Given the description of an element on the screen output the (x, y) to click on. 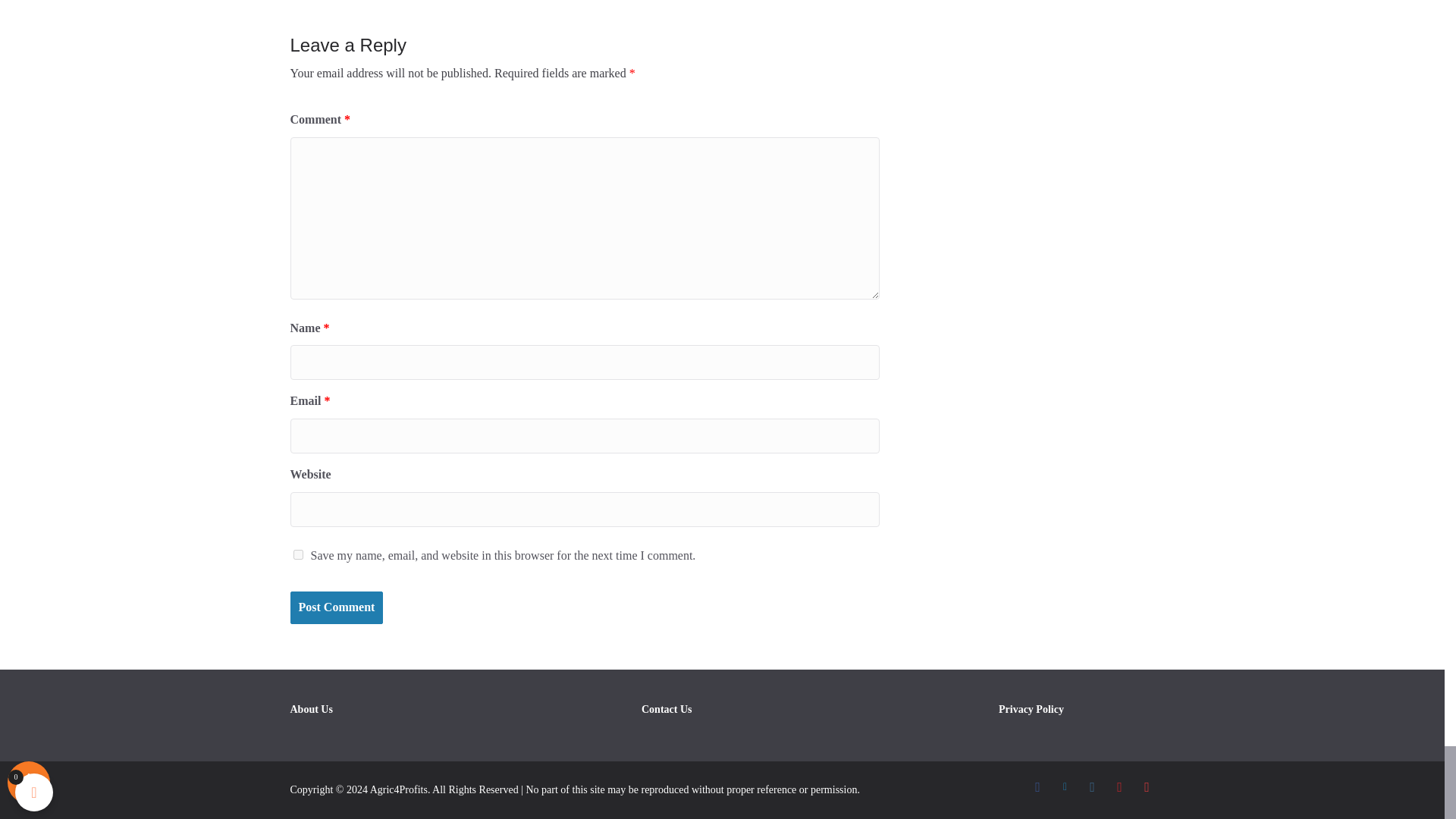
yes (297, 554)
Post Comment (335, 607)
